Given the description of an element on the screen output the (x, y) to click on. 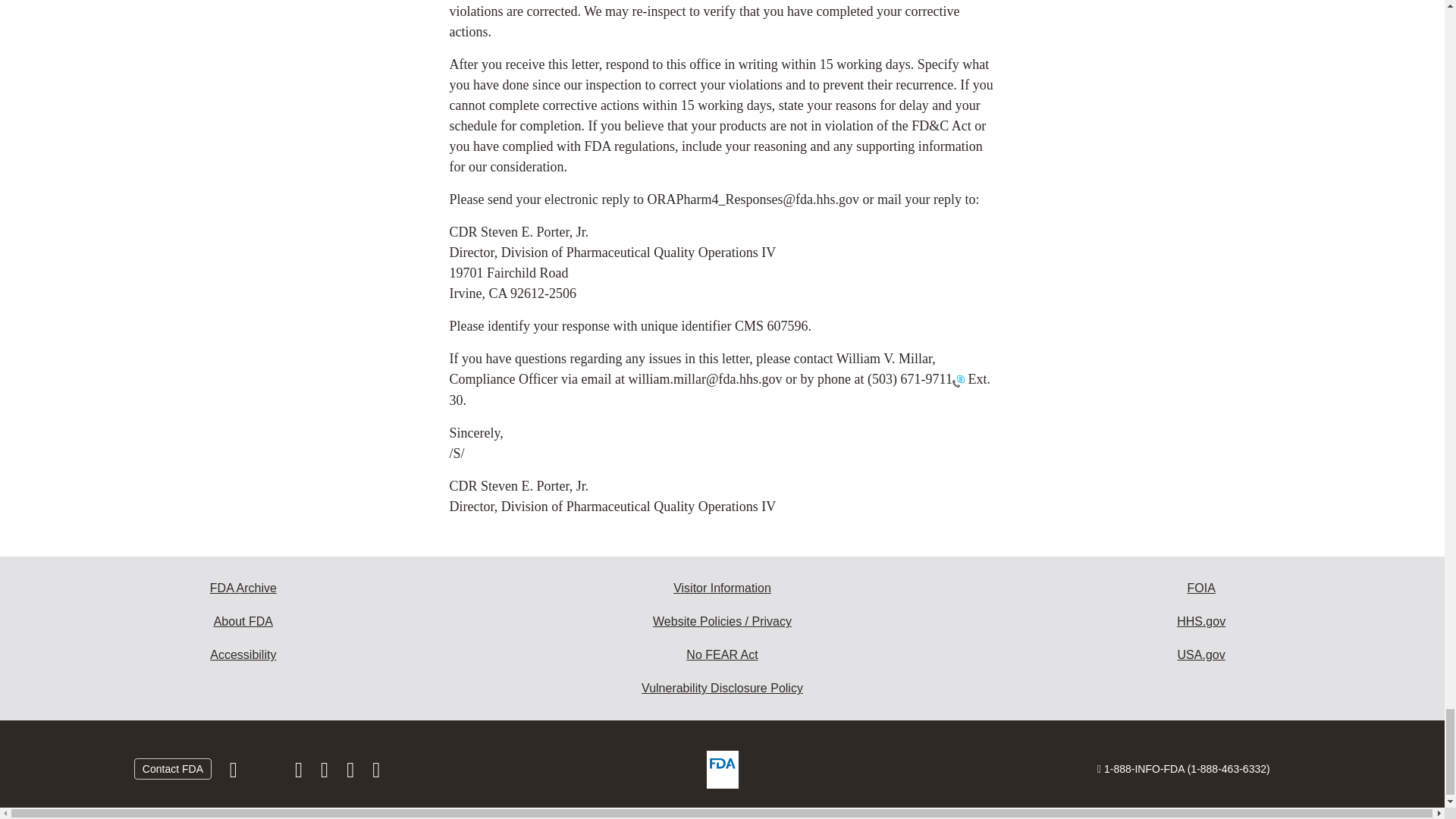
Follow FDA on LinkedIn (326, 773)
View FDA videos on YouTube (352, 773)
Follow FDA on Instagram (299, 773)
Follow FDA on X (266, 773)
Follow FDA on Facebook (234, 773)
Freedom of Information Act (1200, 588)
Subscribe to FDA RSS feeds (376, 773)
Health and Human Services (1200, 621)
